Given the description of an element on the screen output the (x, y) to click on. 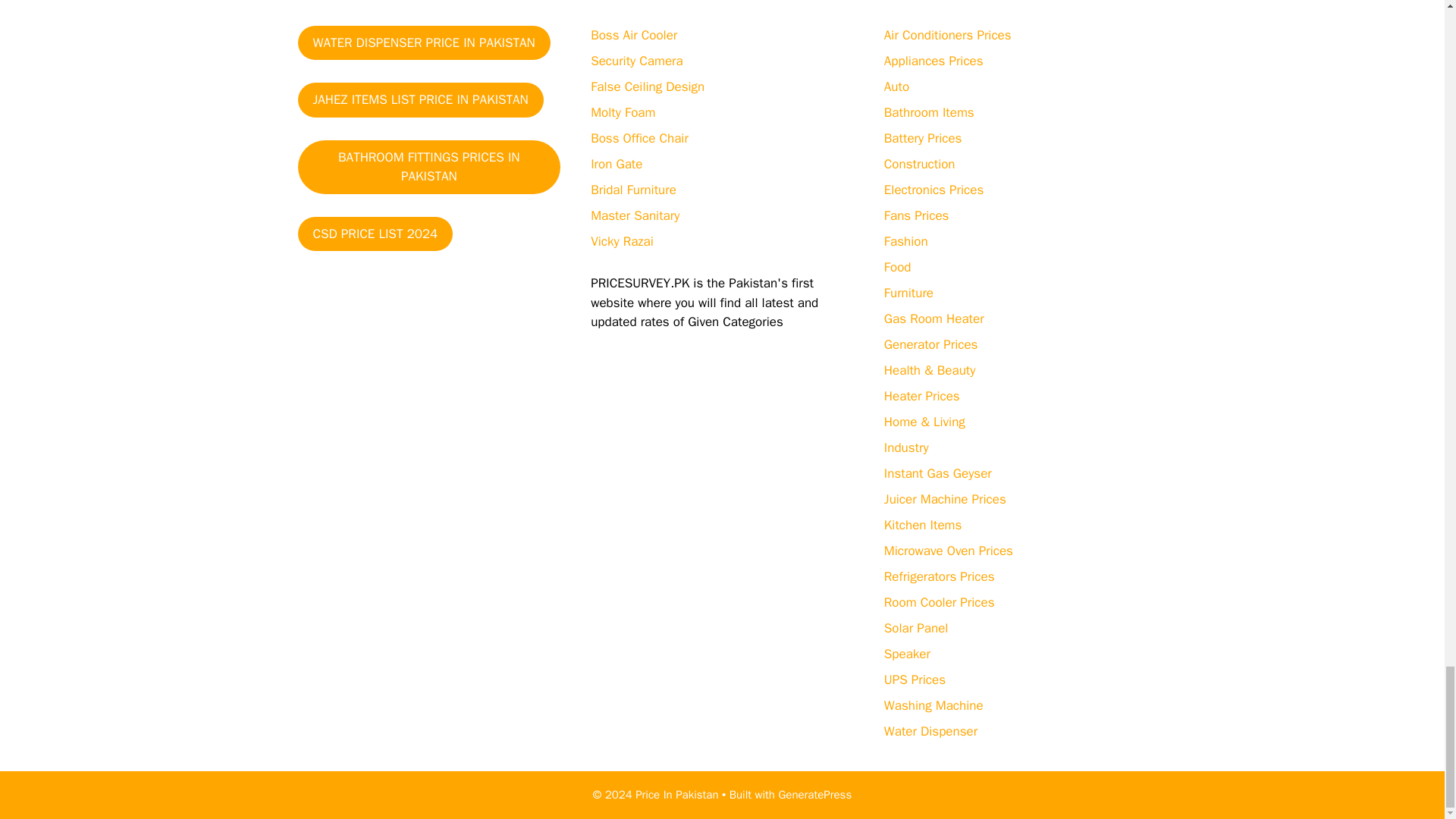
Appliances Prices (933, 60)
Security Camera (636, 60)
False Ceiling Design (647, 86)
Auto (895, 86)
WATER DISPENSER PRICE IN PAKISTAN (423, 42)
Battery Prices (922, 138)
Electronics Prices (933, 189)
JAHEZ ITEMS LIST PRICE IN PAKISTAN (420, 99)
Fans Prices (916, 215)
CSD PRICE LIST 2024 (374, 234)
